Given the description of an element on the screen output the (x, y) to click on. 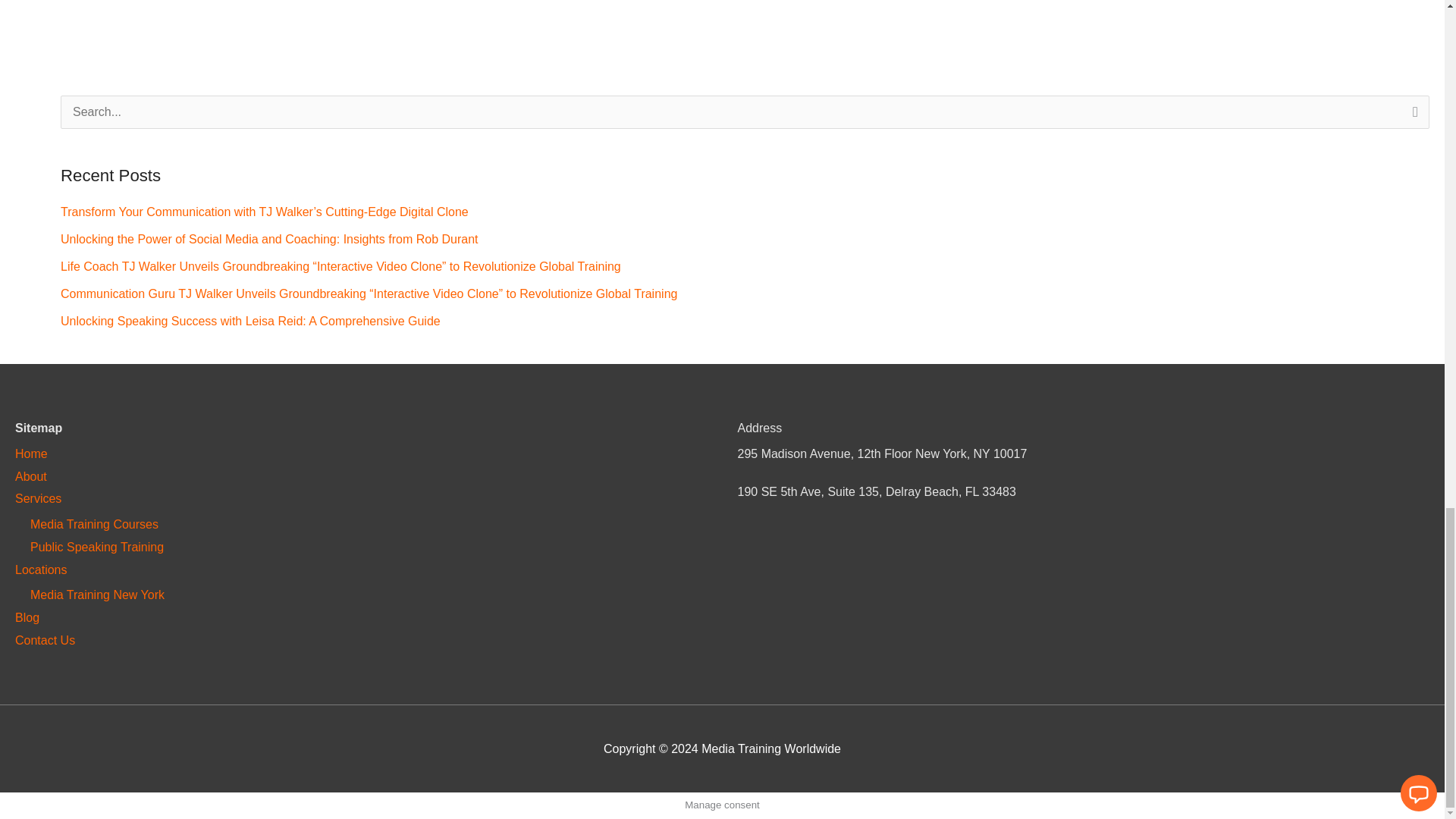
Services (37, 498)
Home (31, 453)
Media Training Courses (94, 523)
Public Speaking Training (96, 546)
Blog (26, 617)
About (30, 476)
Media Training New York (97, 594)
Contact Us (44, 640)
